Given the description of an element on the screen output the (x, y) to click on. 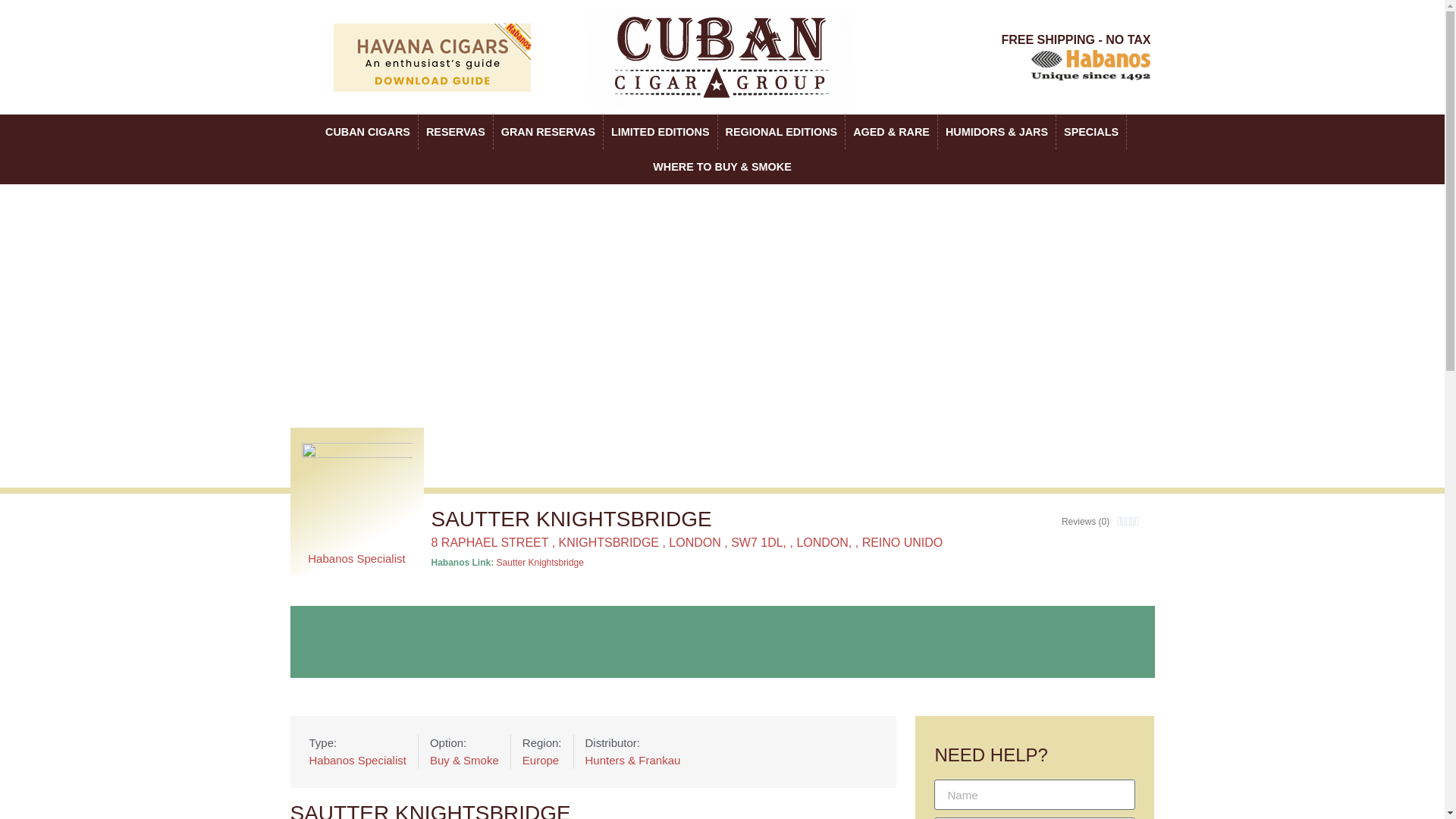
Europe (542, 760)
LIMITED EDITIONS (660, 131)
RESERVAS (456, 131)
REGIONAL EDITIONS (781, 131)
Habanos Specialist (357, 760)
GRAN RESERVAS (547, 131)
CUBAN CIGARS (367, 131)
Sautter Knightsbridge (539, 562)
Habanos Specialist (355, 558)
SPECIALS (1091, 131)
